Given the description of an element on the screen output the (x, y) to click on. 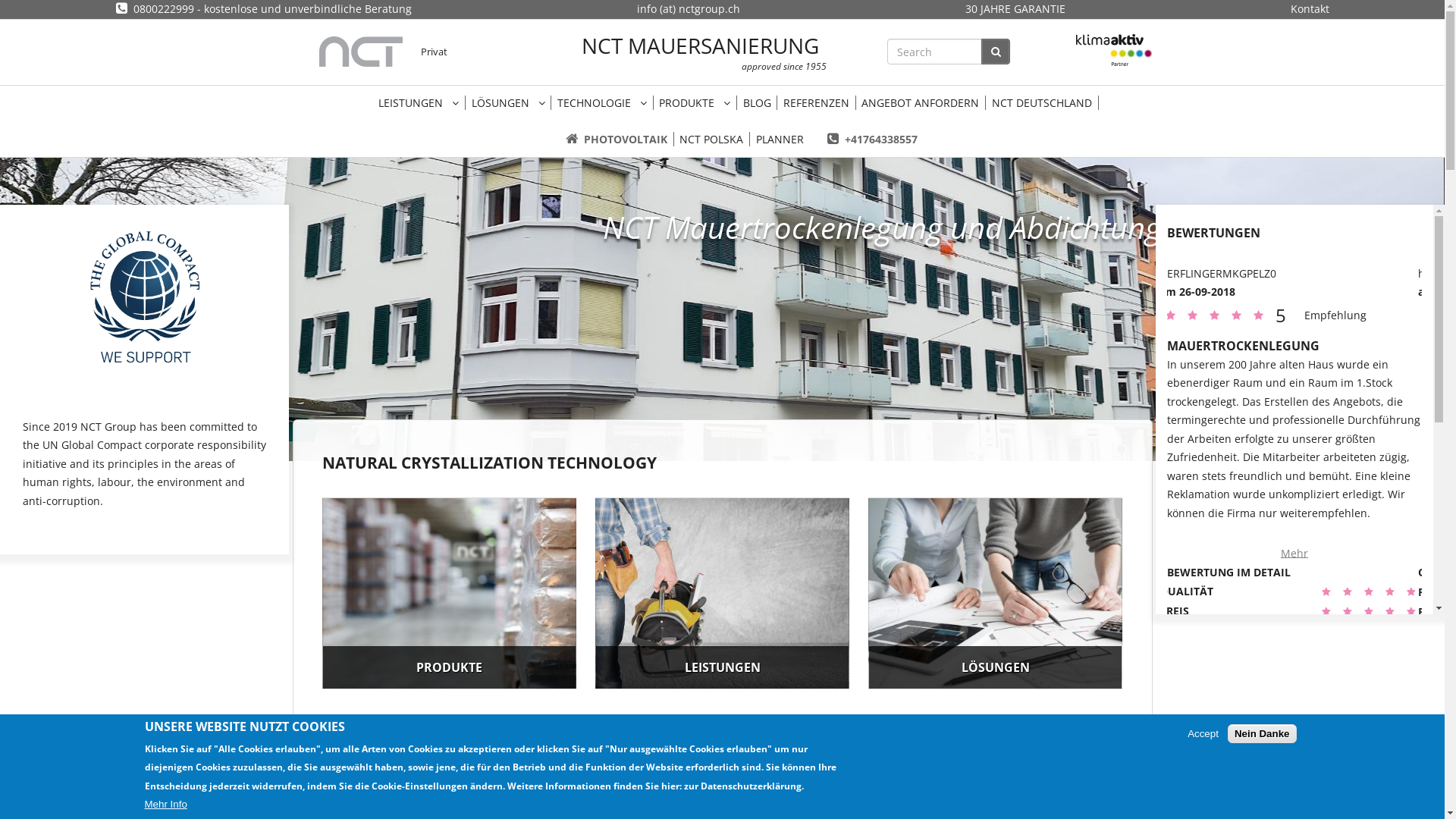
ANGEBOT ANFORDERN Element type: text (920, 102)
PRODUKTE Element type: text (449, 593)
info (at) nctgroup.ch Element type: text (688, 8)
Nein Danke Element type: text (1261, 733)
LEISTUNGEN Element type: text (419, 102)
PLANNER Element type: text (779, 138)
Kontakt Element type: text (1309, 8)
Klimaaktiv Element type: hover (1113, 51)
LEISTUNGEN Element type: text (722, 593)
SEARCH Element type: text (995, 51)
REFERENZEN Element type: text (816, 102)
PHOTOVOLTAIK Element type: text (616, 138)
30 JAHRE GARANTIE Element type: text (1014, 8)
TECHNOLOGIE Element type: text (601, 102)
Mehr Element type: text (1294, 515)
Startseite Element type: hover (359, 51)
NCT POLSKA Element type: text (711, 138)
NCT DEUTSCHLAND Element type: text (1041, 102)
PRODUKTE Element type: text (695, 102)
Privat Element type: text (433, 51)
Accept Element type: text (1202, 733)
Mehr Info Element type: text (165, 803)
+41764338557 Element type: text (871, 138)
Enter the terms you wish to search for. Element type: hover (934, 51)
BLOG Element type: text (757, 102)
0800222999 - kostenlose und unverbindliche Beratung Element type: text (263, 8)
